Given the description of an element on the screen output the (x, y) to click on. 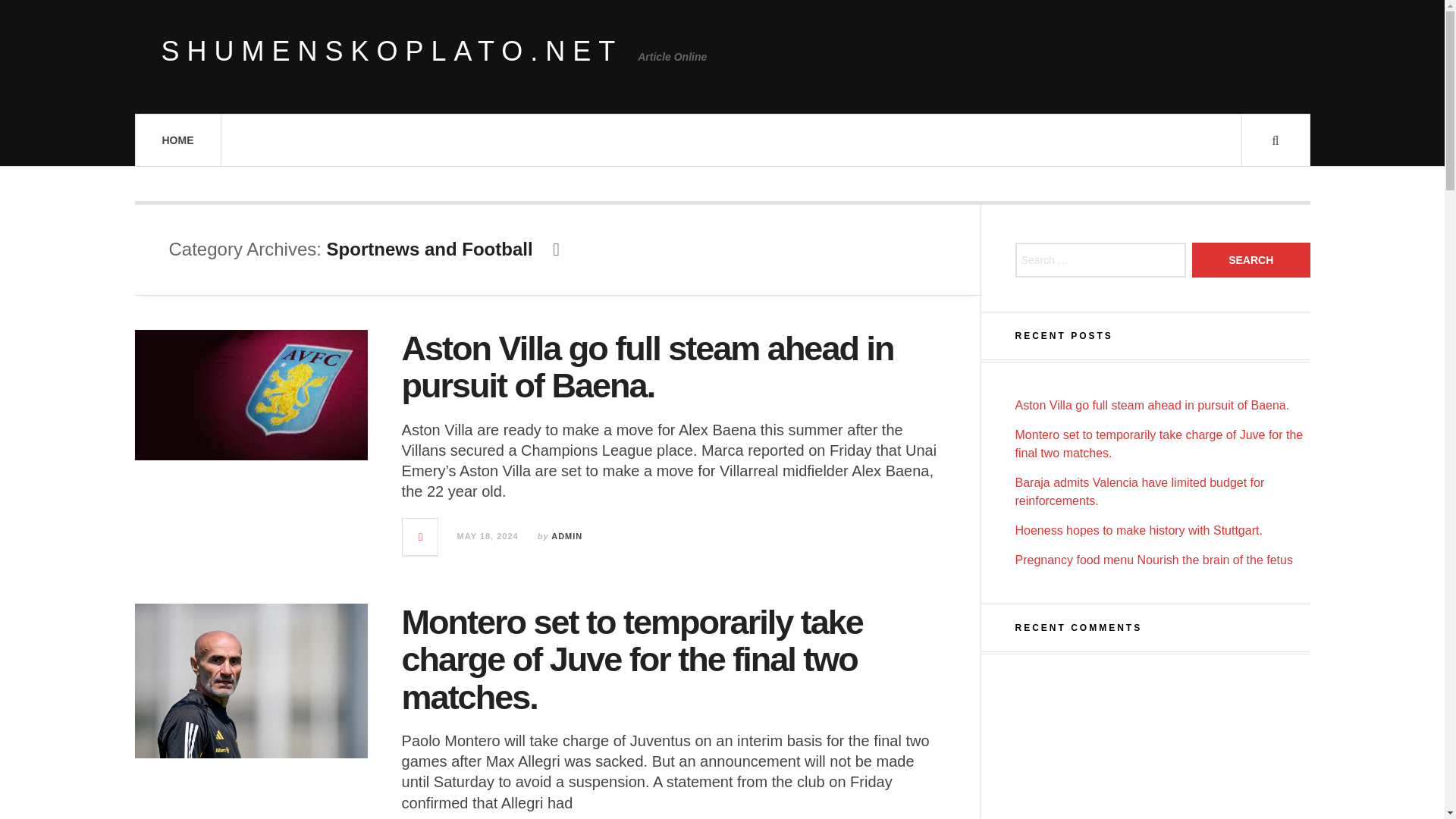
HOME (178, 140)
Aston Villa go full steam ahead in pursuit of Baena. (647, 367)
Search (1251, 259)
shumenskoplato.net (391, 51)
Posts by admin (566, 535)
Aston Villa go full steam ahead in pursuit of Baena. (1151, 404)
Search (1251, 259)
ADMIN (566, 535)
Read More... (421, 536)
SHUMENSKOPLATO.NET (391, 51)
Search (1251, 259)
